Given the description of an element on the screen output the (x, y) to click on. 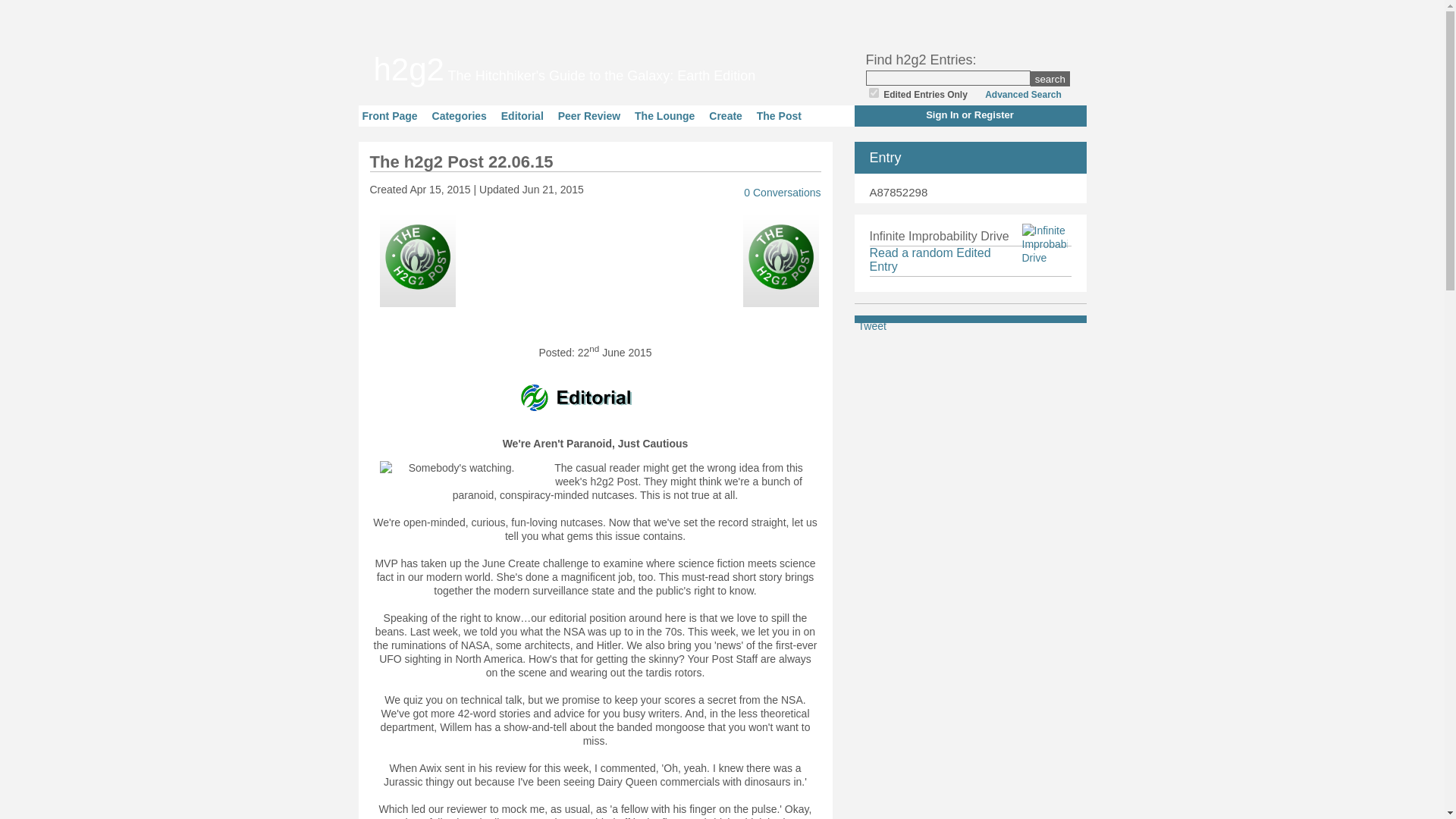
1 (874, 92)
Create (725, 115)
0 Conversations (775, 192)
Advanced Search (1018, 94)
The Lounge (664, 115)
A crest bearing the legend The H2G2 Post (417, 263)
Infinite Improbability Drive (929, 259)
The Post (779, 115)
search (1050, 78)
Peer Review (589, 115)
